Given the description of an element on the screen output the (x, y) to click on. 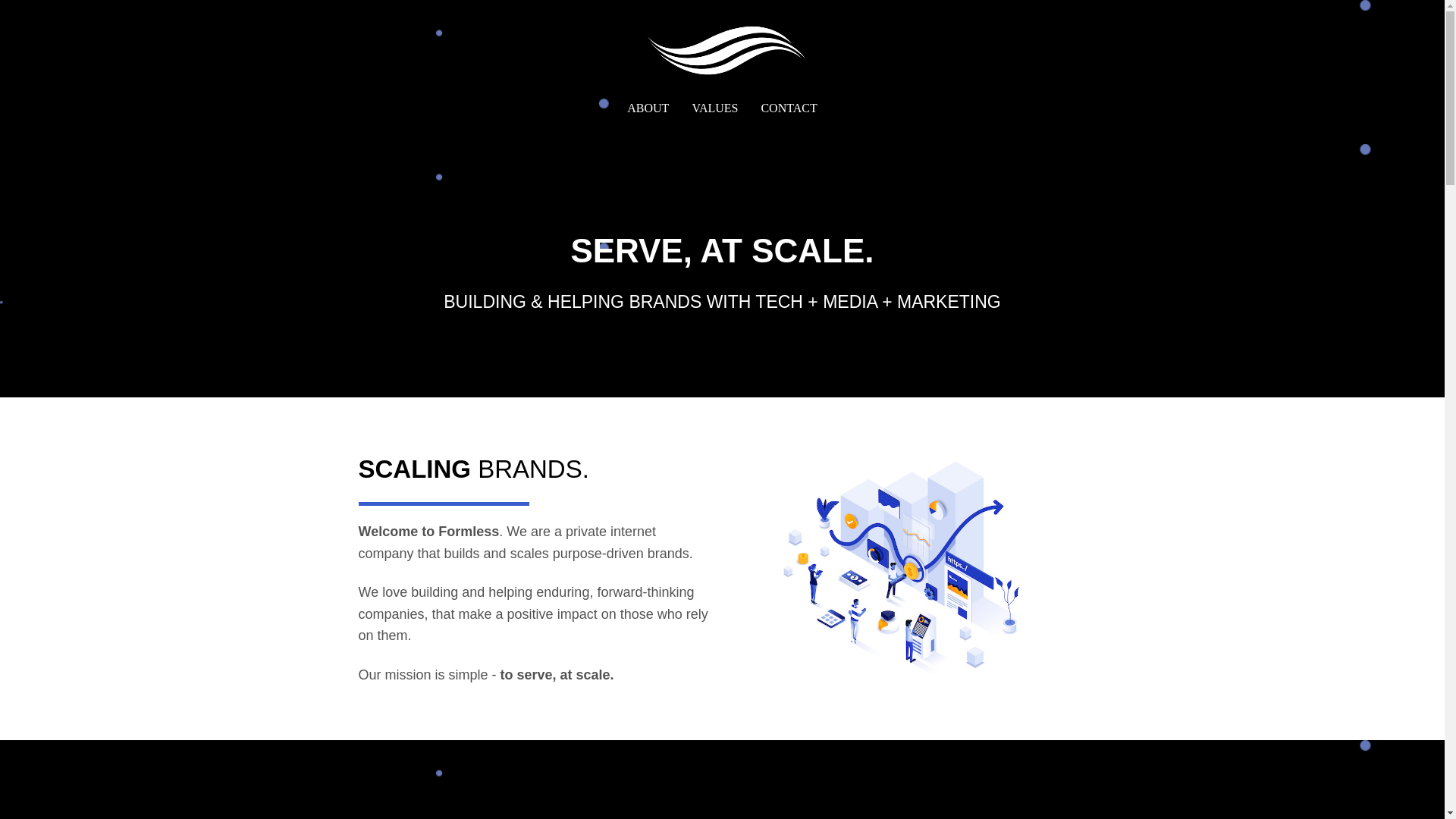
ABOUT (647, 108)
VALUES (714, 108)
logo (721, 51)
CONTACT (788, 108)
